Given the description of an element on the screen output the (x, y) to click on. 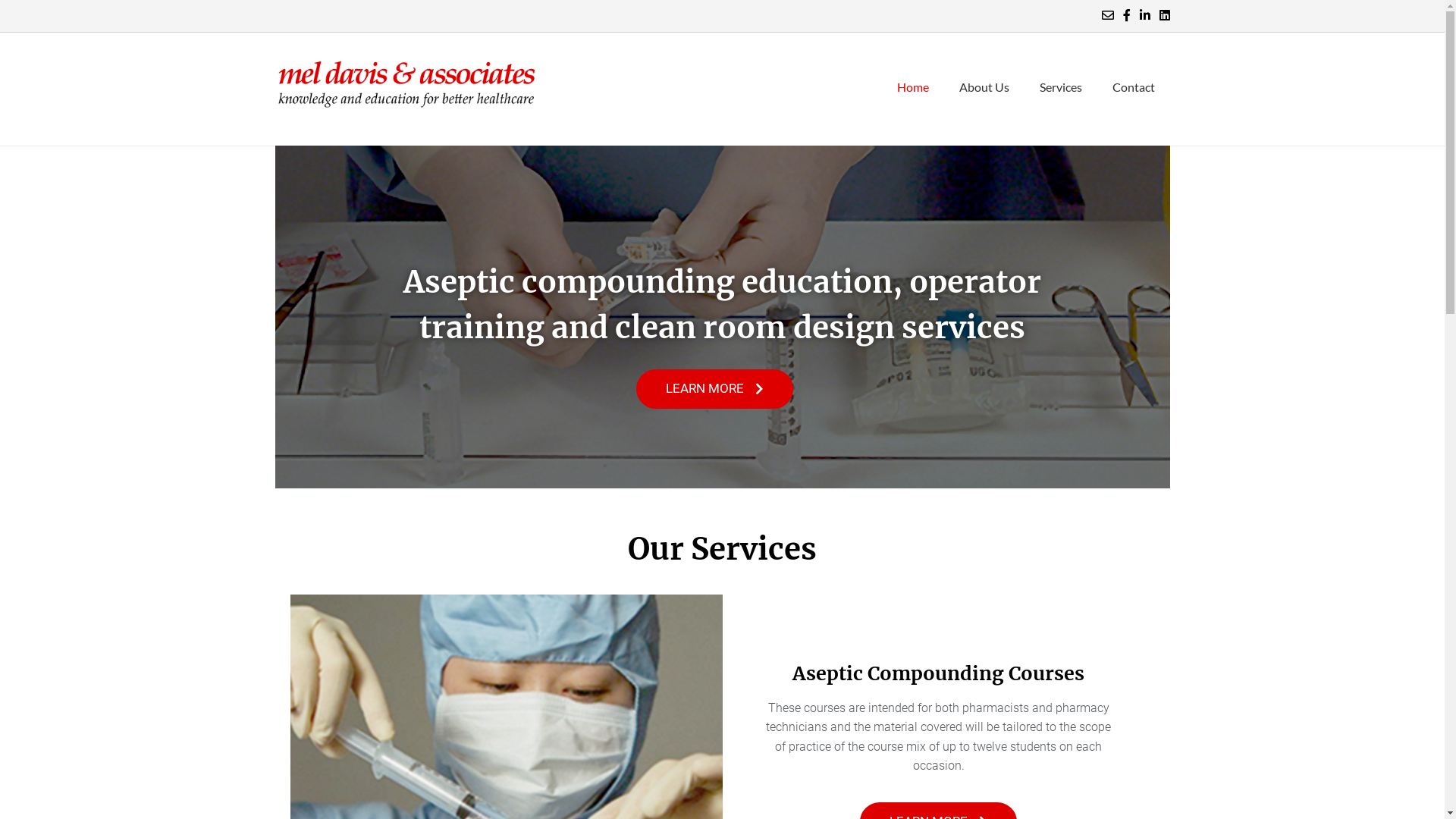
Send Us an Email Element type: hover (1107, 15)
About Us Element type: text (983, 88)
Contact Element type: text (1132, 88)
Find Us on Facebook Element type: hover (1125, 15)
Find Us on LinkedIn Element type: hover (1144, 15)
LEARN MORE Element type: text (714, 388)
Home Element type: text (912, 88)
Services Element type: text (1059, 88)
